Given the description of an element on the screen output the (x, y) to click on. 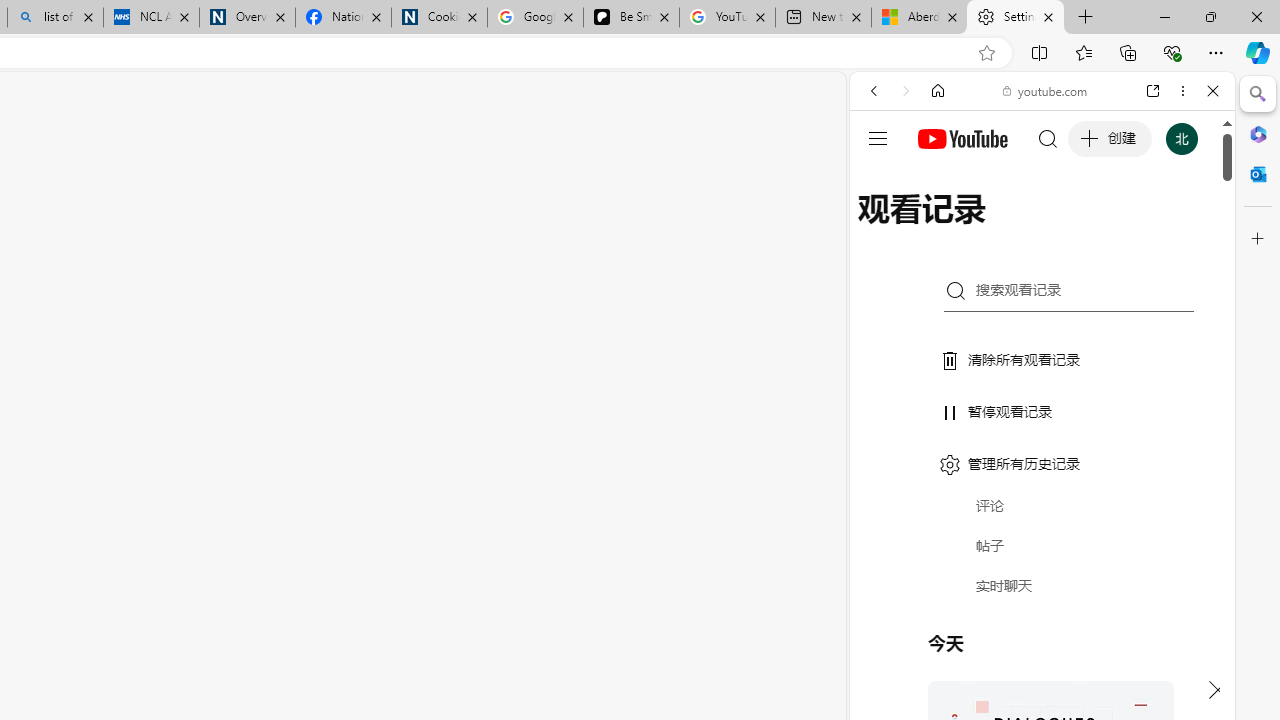
More options (1182, 91)
Search Filter, WEB (882, 228)
YouTube (1034, 296)
NCL Adult Asthma Inhaler Choice Guideline (150, 17)
Search the web (1051, 137)
Music (1042, 543)
Global web icon (888, 288)
